Given the description of an element on the screen output the (x, y) to click on. 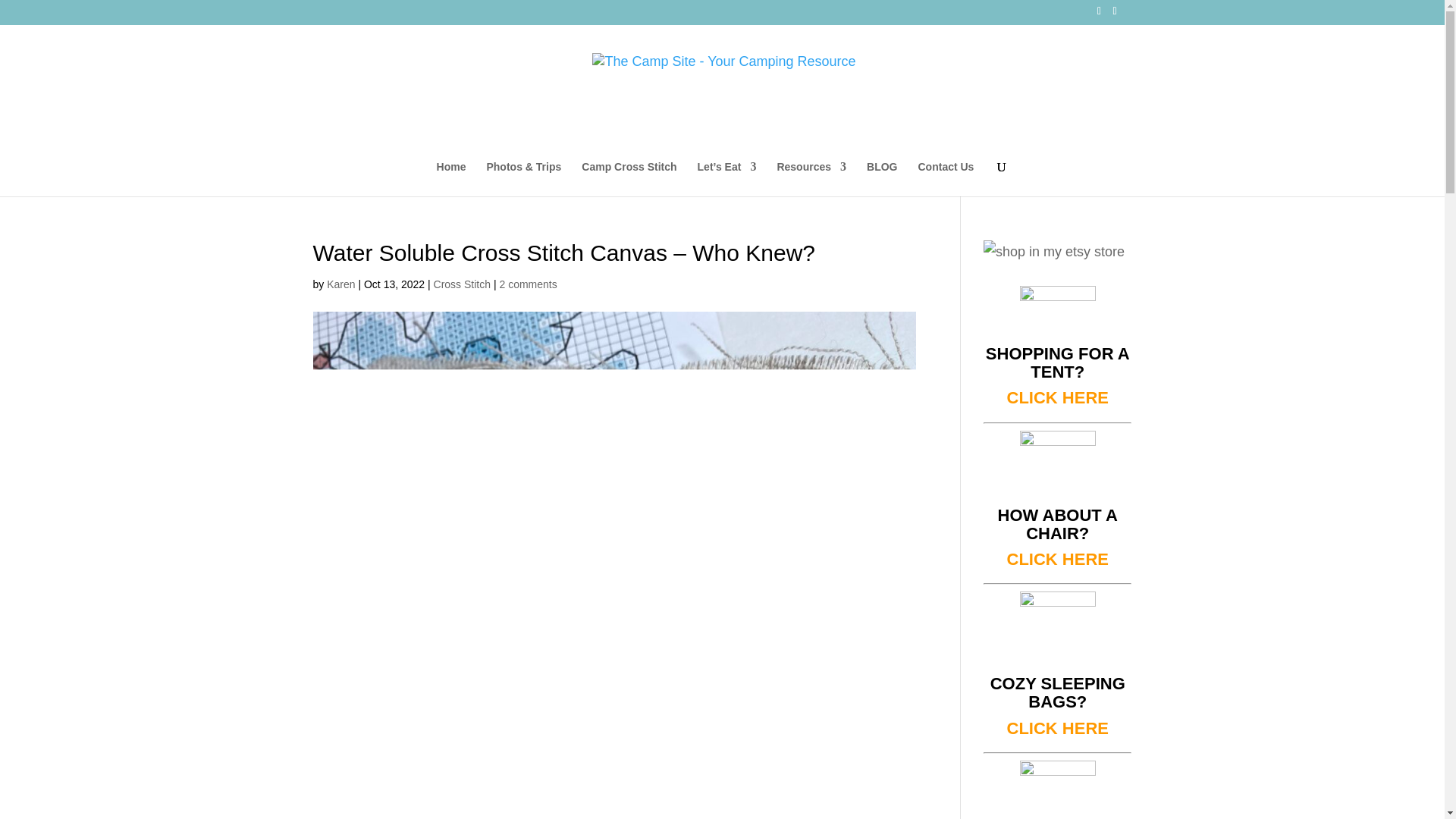
Karen (340, 283)
Posts by Karen (340, 283)
Resources (810, 177)
2 comments (527, 283)
CLICK HERE (1057, 558)
BLOG (881, 177)
Home (450, 177)
CLICK HERE (1057, 397)
Camp Cross Stitch (628, 177)
Cross Stitch (461, 283)
Contact Us (945, 177)
CLICK HERE (1057, 728)
